Given the description of an element on the screen output the (x, y) to click on. 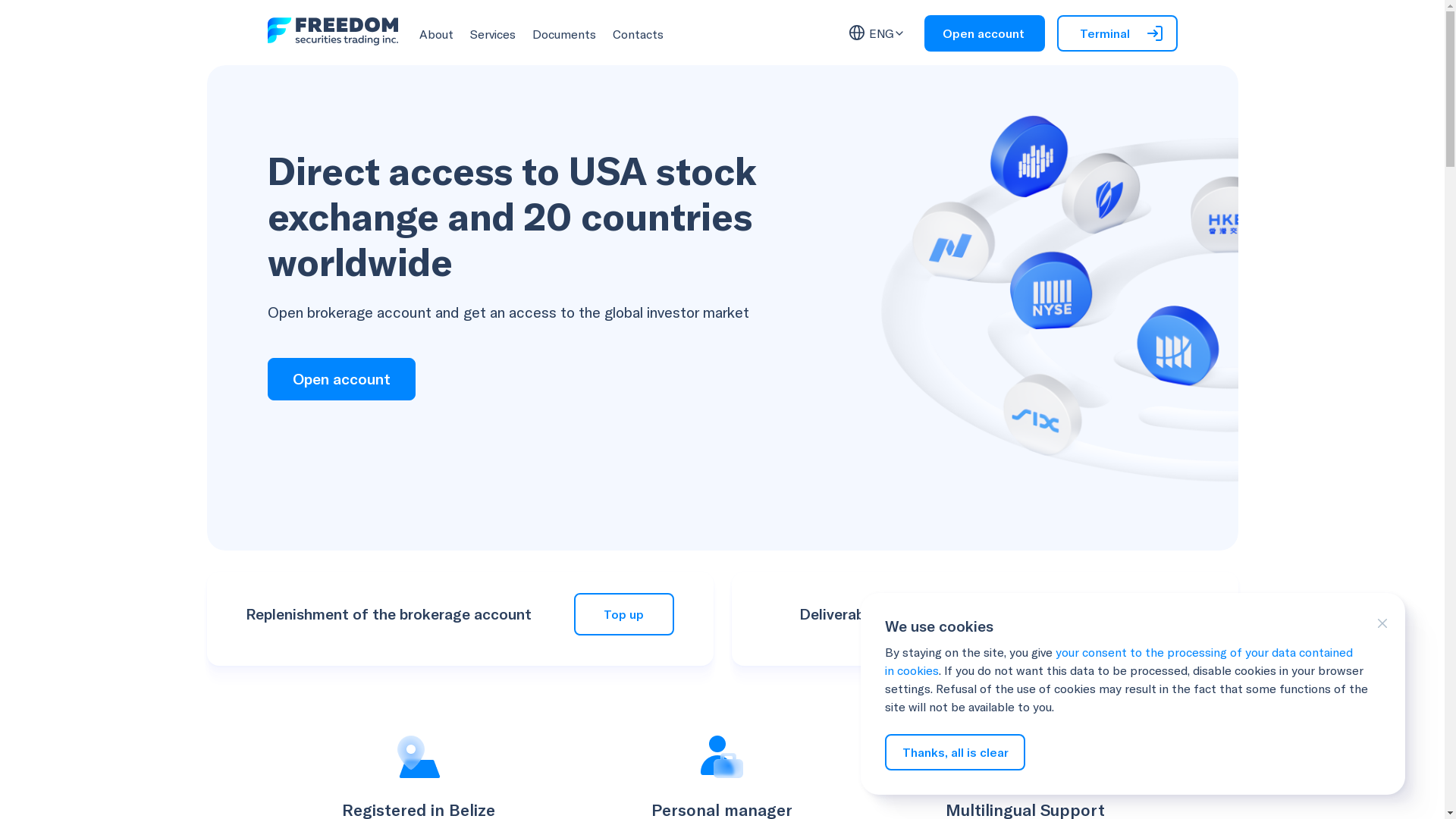
Contacts Element type: text (637, 33)
Documents Element type: text (564, 33)
About Element type: text (435, 33)
Thanks, all is clear Element type: text (954, 752)
Terminal Element type: text (1117, 33)
Services Element type: text (492, 33)
Top up Element type: text (624, 614)
Buy forwards Element type: text (1120, 614)
Open account Element type: text (340, 378)
Open account Element type: text (983, 33)
